Given the description of an element on the screen output the (x, y) to click on. 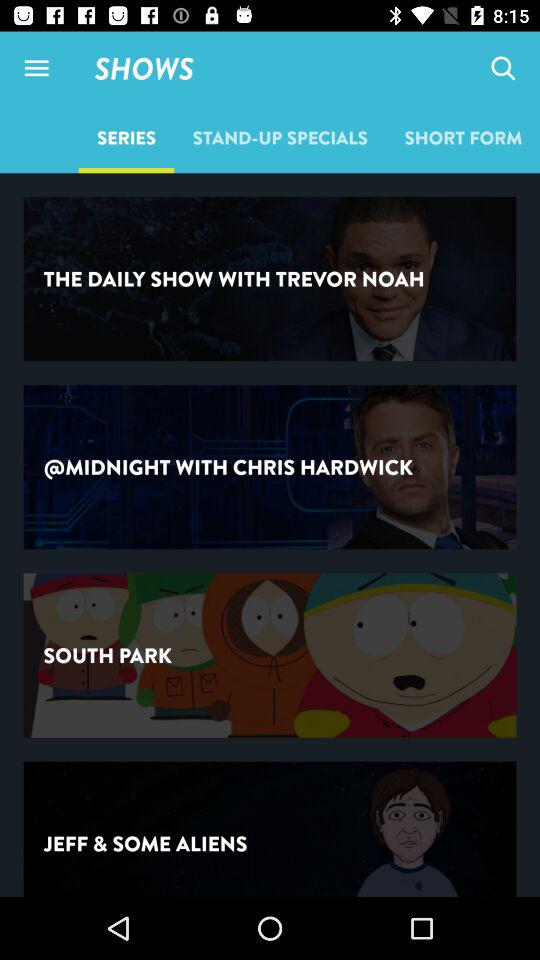
tap the item above the short form icon (502, 67)
